Given the description of an element on the screen output the (x, y) to click on. 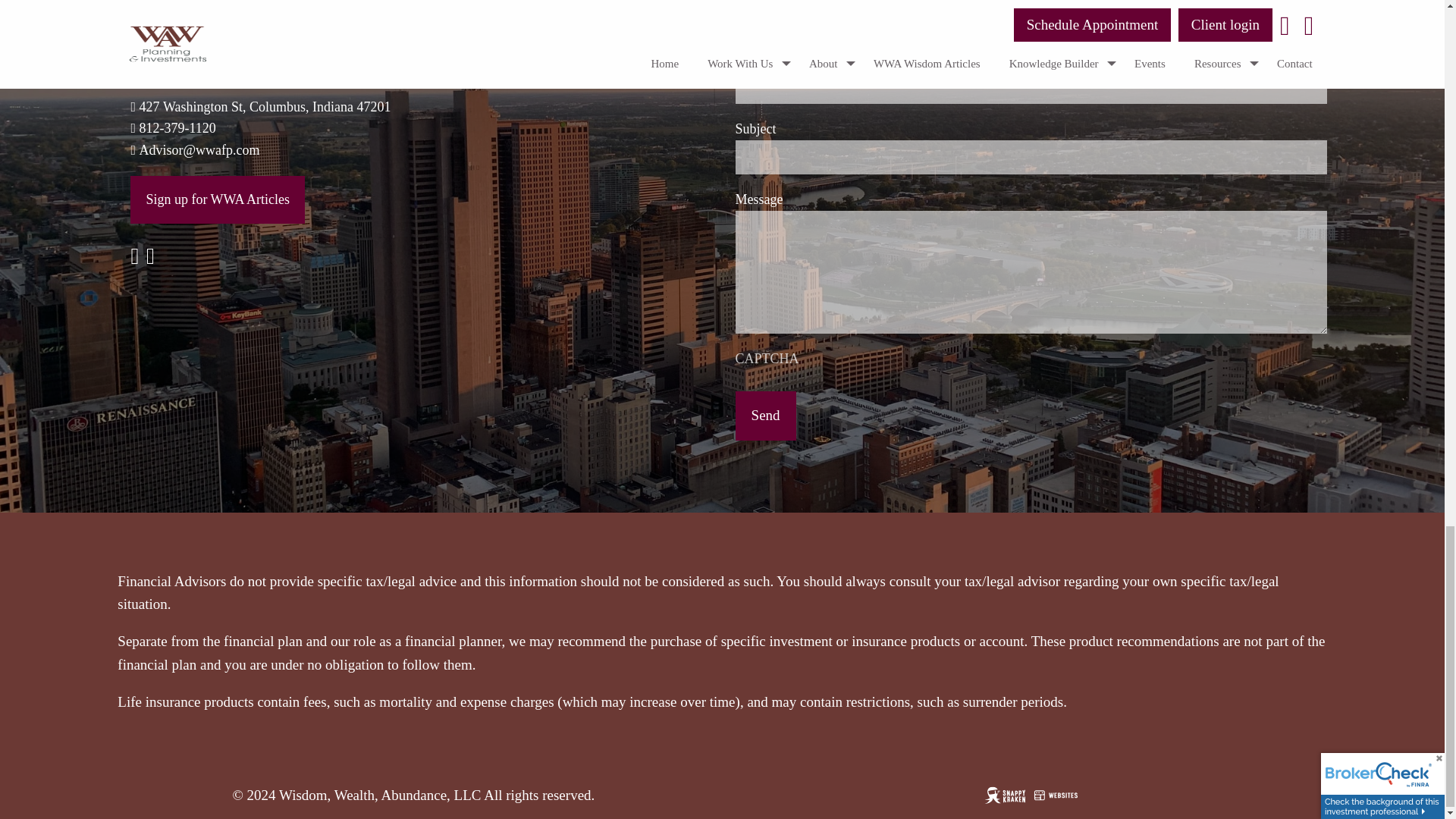
Send (765, 415)
ADV Disclosures (179, 23)
sign up for articles (217, 199)
Send (765, 415)
Privacy Policy (171, 4)
Sign up for WWA Articles (217, 199)
812-379-1120 (176, 127)
